Given the description of an element on the screen output the (x, y) to click on. 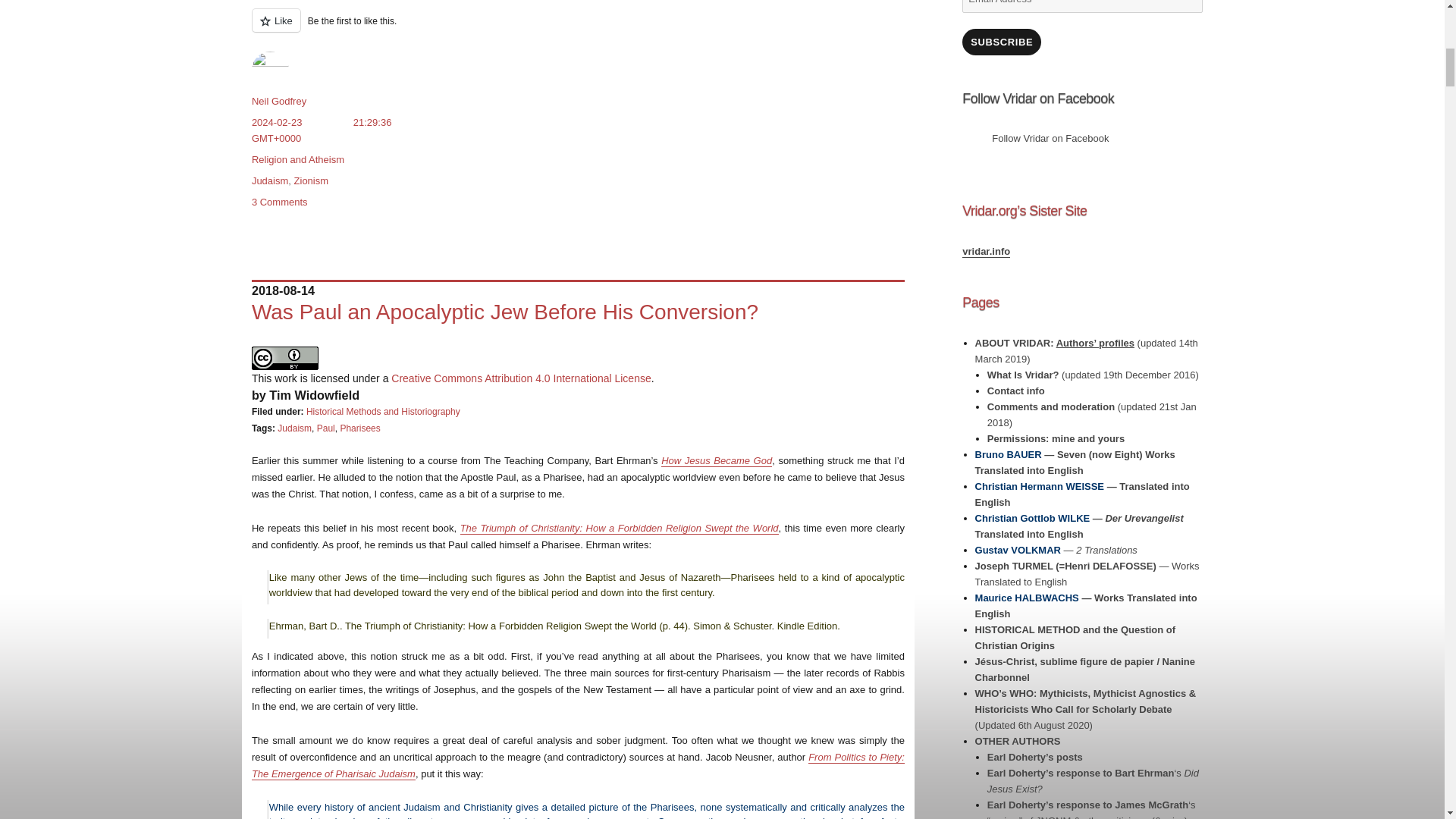
Neil Godfrey (278, 101)
Zionism (311, 180)
3 Comments (279, 202)
Historical Methods and Historiography (382, 411)
Like or Reblog (577, 28)
Was Paul an Apocalyptic Jew Before His Conversion? (504, 311)
Creative Commons Attribution 4.0 International License (520, 378)
Religion and Atheism (297, 159)
From Politics to Piety: The Emergence of Pharisaic Judaism (577, 765)
Judaism (294, 428)
Paul (325, 428)
Pharisees (359, 428)
How Jesus Became God (716, 460)
Judaism (269, 180)
